Given the description of an element on the screen output the (x, y) to click on. 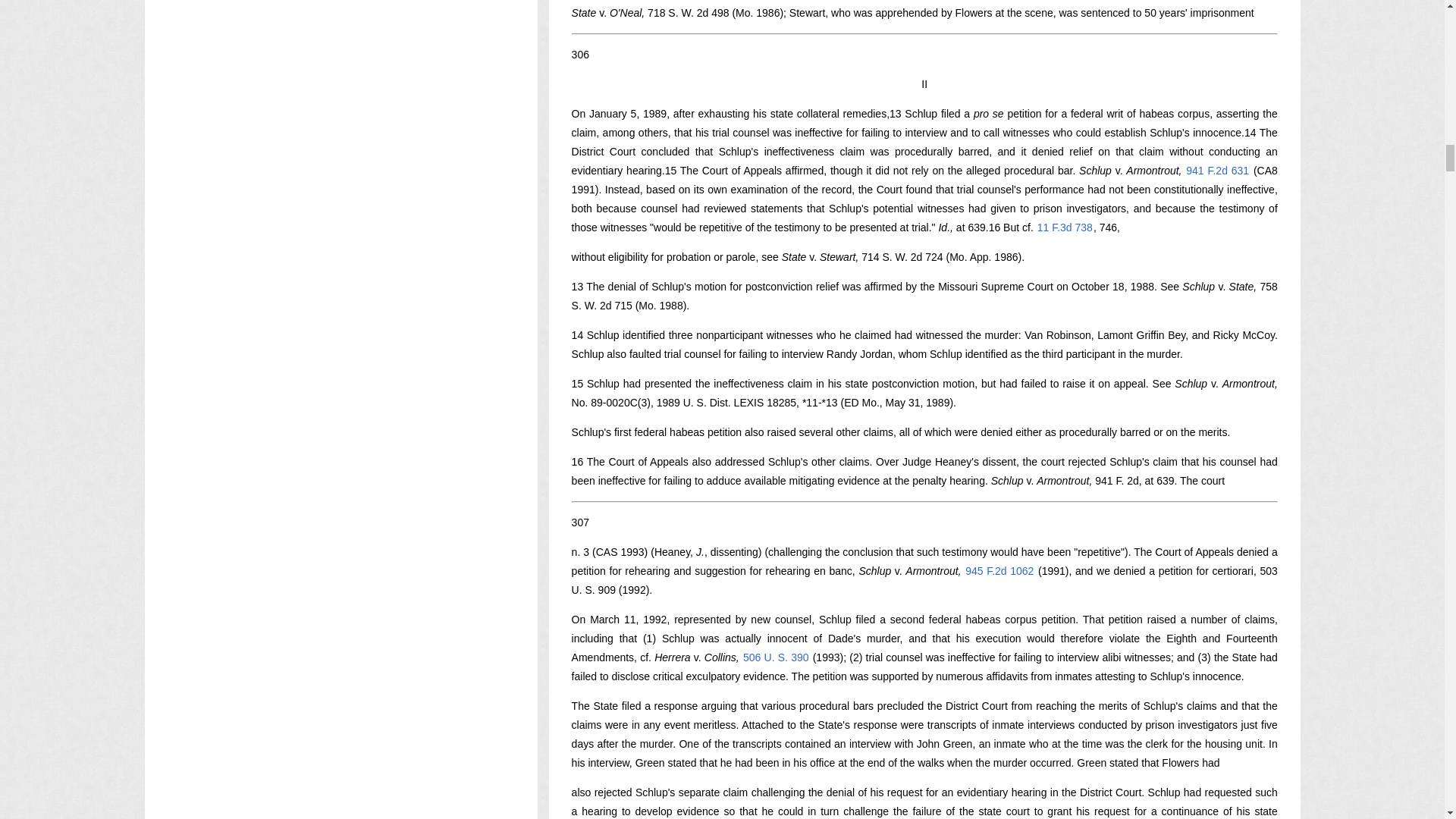
306 (580, 54)
11 F.3d 738 (1064, 227)
506 U. S. 390 (775, 657)
307 (580, 522)
945 F.2d 1062 (998, 571)
